Given the description of an element on the screen output the (x, y) to click on. 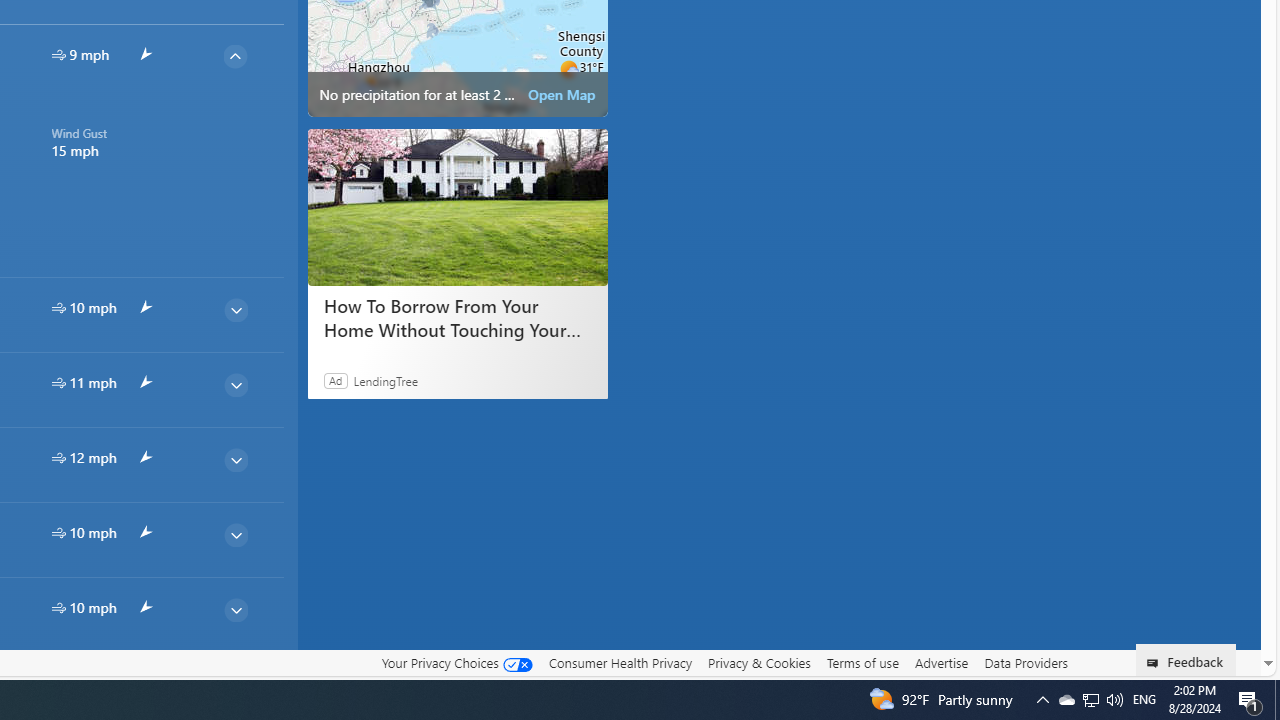
Data Providers (1025, 662)
Privacy & Cookies (759, 662)
How To Borrow From Your Home Without Touching Your Mortgage (456, 317)
How To Borrow From Your Home Without Touching Your Mortgage (457, 206)
Your Privacy Choices (456, 662)
Privacy & Cookies (759, 663)
Advertise (940, 662)
Class: feedback_link_icon-DS-EntryPoint1-1 (1156, 663)
common/arrow (144, 682)
Consumer Health Privacy (619, 663)
Consumer Health Privacy (619, 662)
LendingTree (385, 380)
common/thinArrow (235, 684)
